Given the description of an element on the screen output the (x, y) to click on. 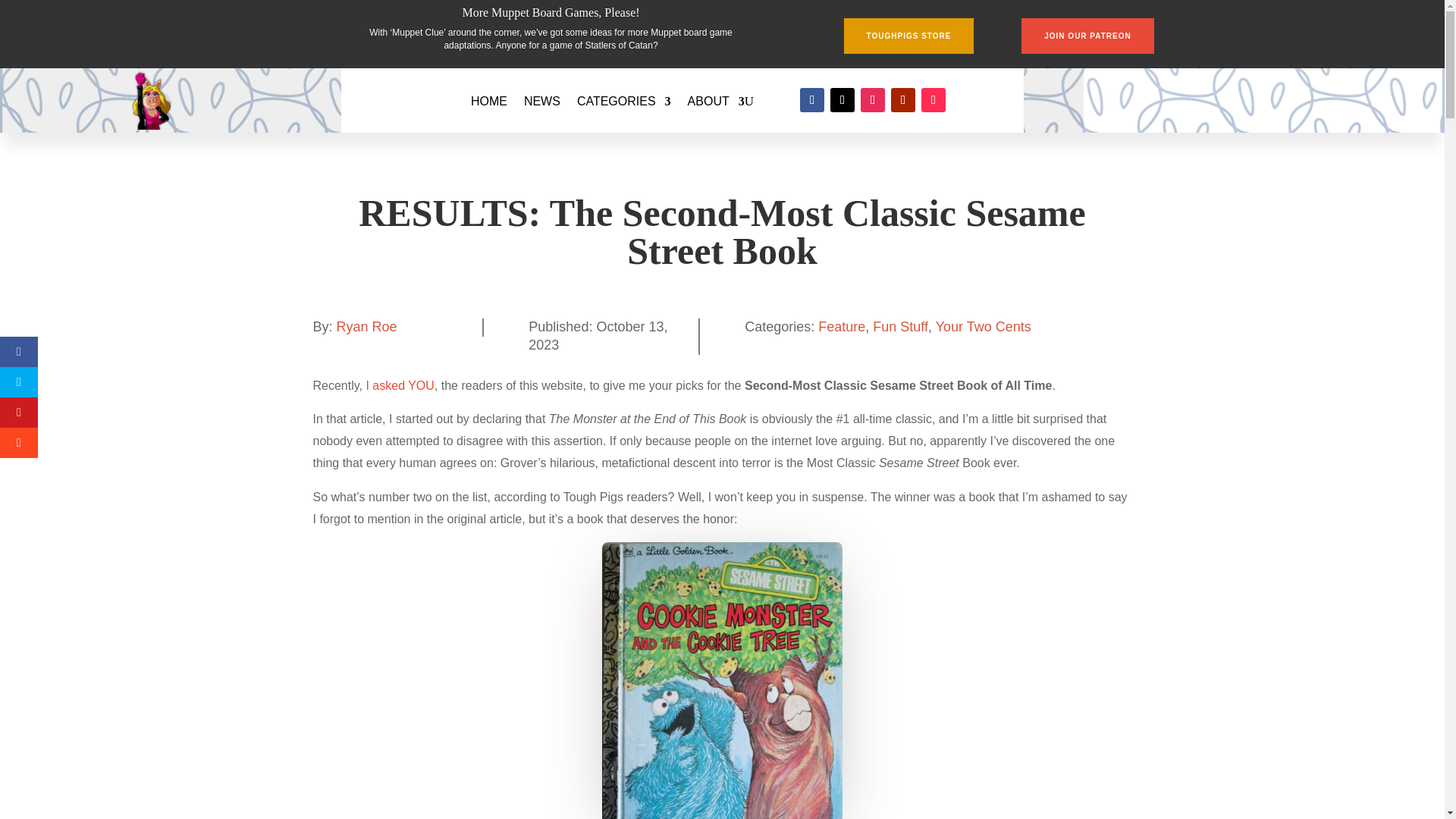
Follow on Facebook (811, 99)
Follow on Youtube (903, 99)
NEWS (542, 101)
ABOUT (715, 101)
Follow on TikTok (932, 99)
TOUGHPIGS STORE (909, 36)
CATEGORIES (623, 101)
Follow on Instagram (872, 99)
JOIN OUR PATREON (1088, 36)
HOME (488, 101)
Follow on X (841, 99)
